Given the description of an element on the screen output the (x, y) to click on. 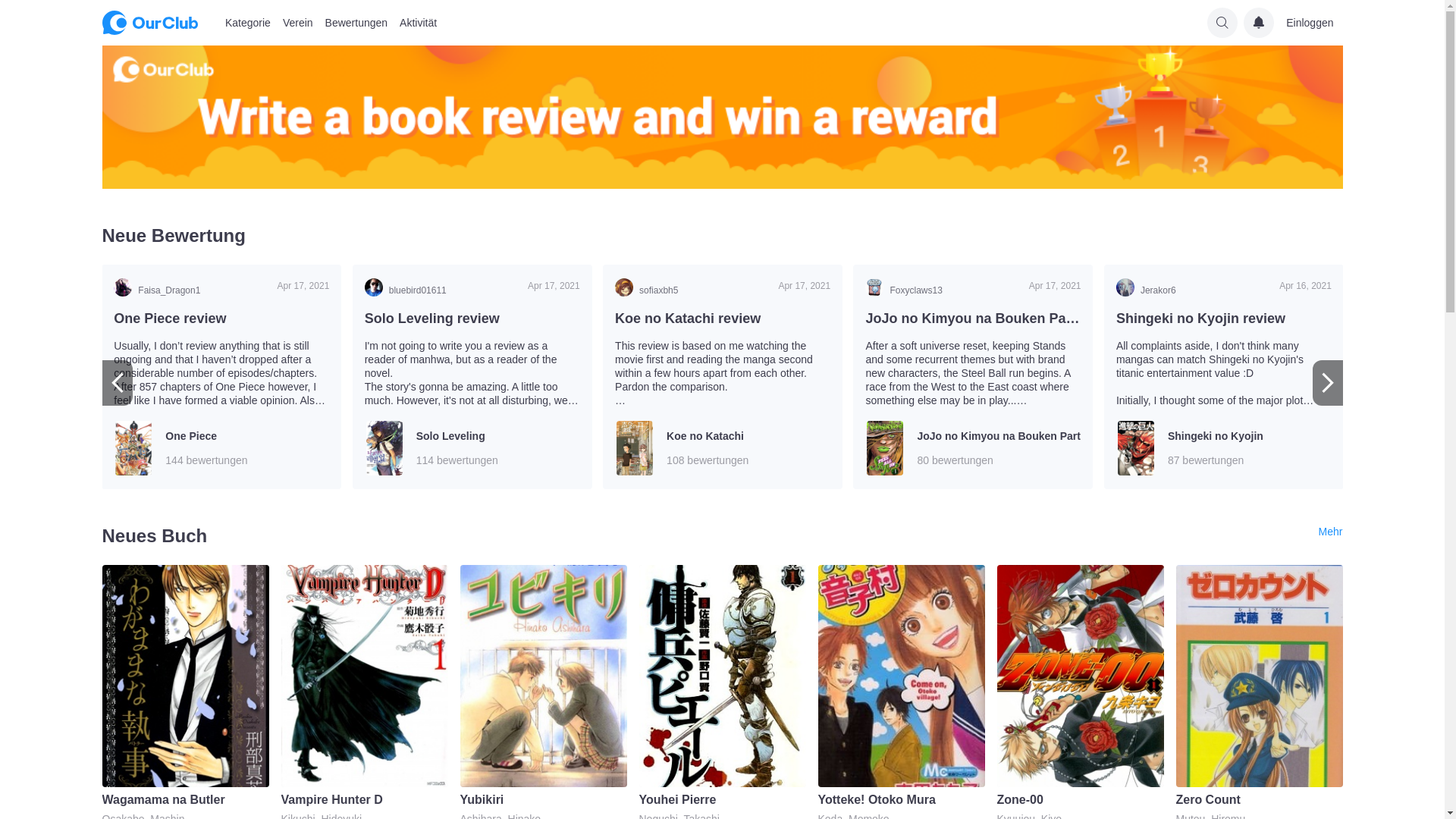
Geisha_X11 Element type: text (943, 287)
Utsuro no Hako to Zero no Maria
48 bewertungen Element type: text (221, 447)
One Punch-Man
37 bewertungen Element type: text (722, 447)
Simply_Waiting12 Element type: text (441, 287)
MoshiMochi10 Element type: text (190, 287)
uranx6 Element type: text (692, 287)
Roflmaows15 Element type: text (1193, 287)
Houseki no Kuni
12 bewertungen Element type: text (973, 447)
our club activity Element type: hover (722, 116)
Made in Abyss
28 bewertungen Element type: text (472, 447)
Yokohama Kaidashi Kikou
31 bewertungen Element type: text (1223, 447)
